Given the description of an element on the screen output the (x, y) to click on. 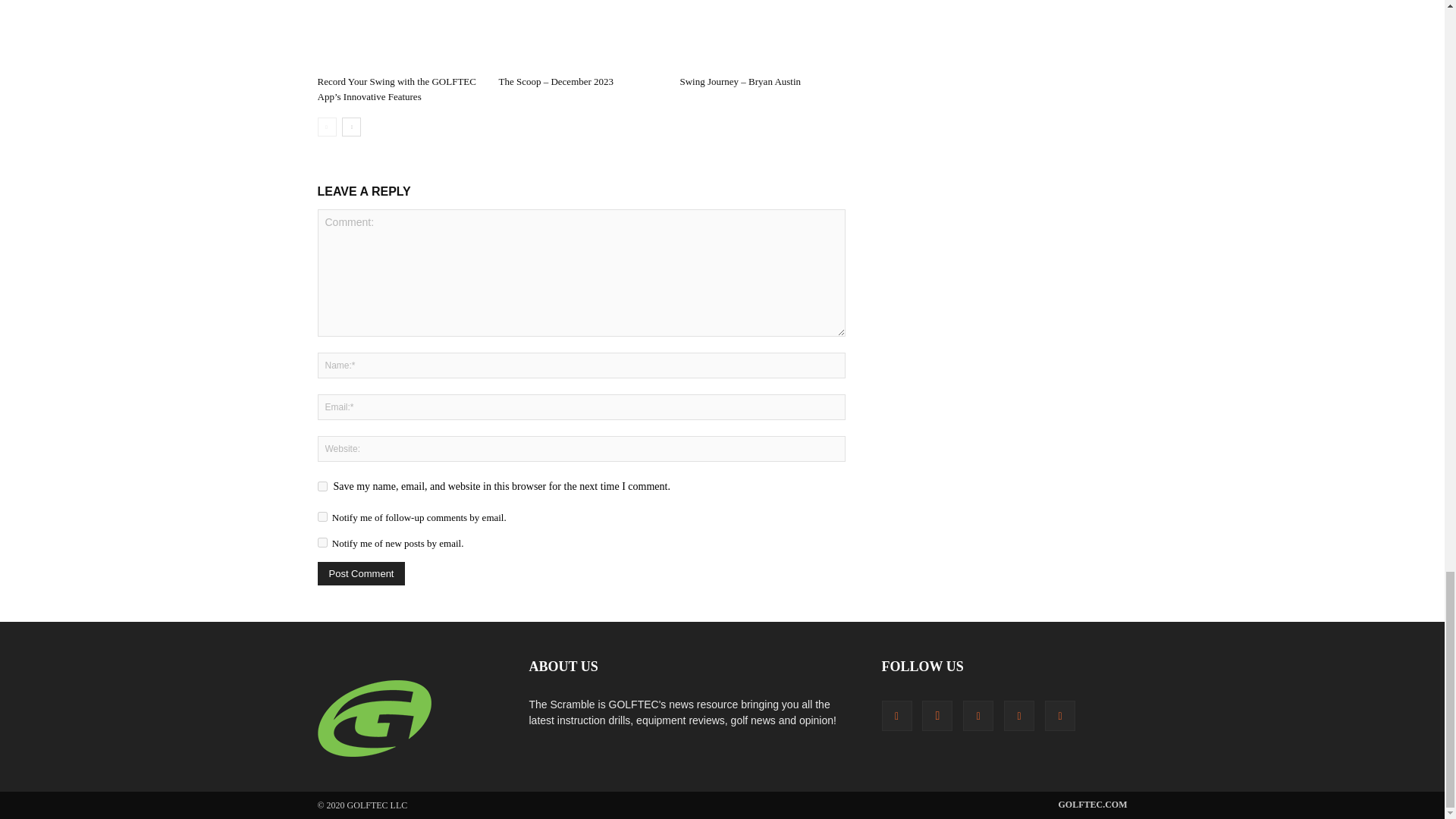
yes (321, 486)
subscribe (321, 542)
Post Comment (360, 573)
subscribe (321, 516)
